Given the description of an element on the screen output the (x, y) to click on. 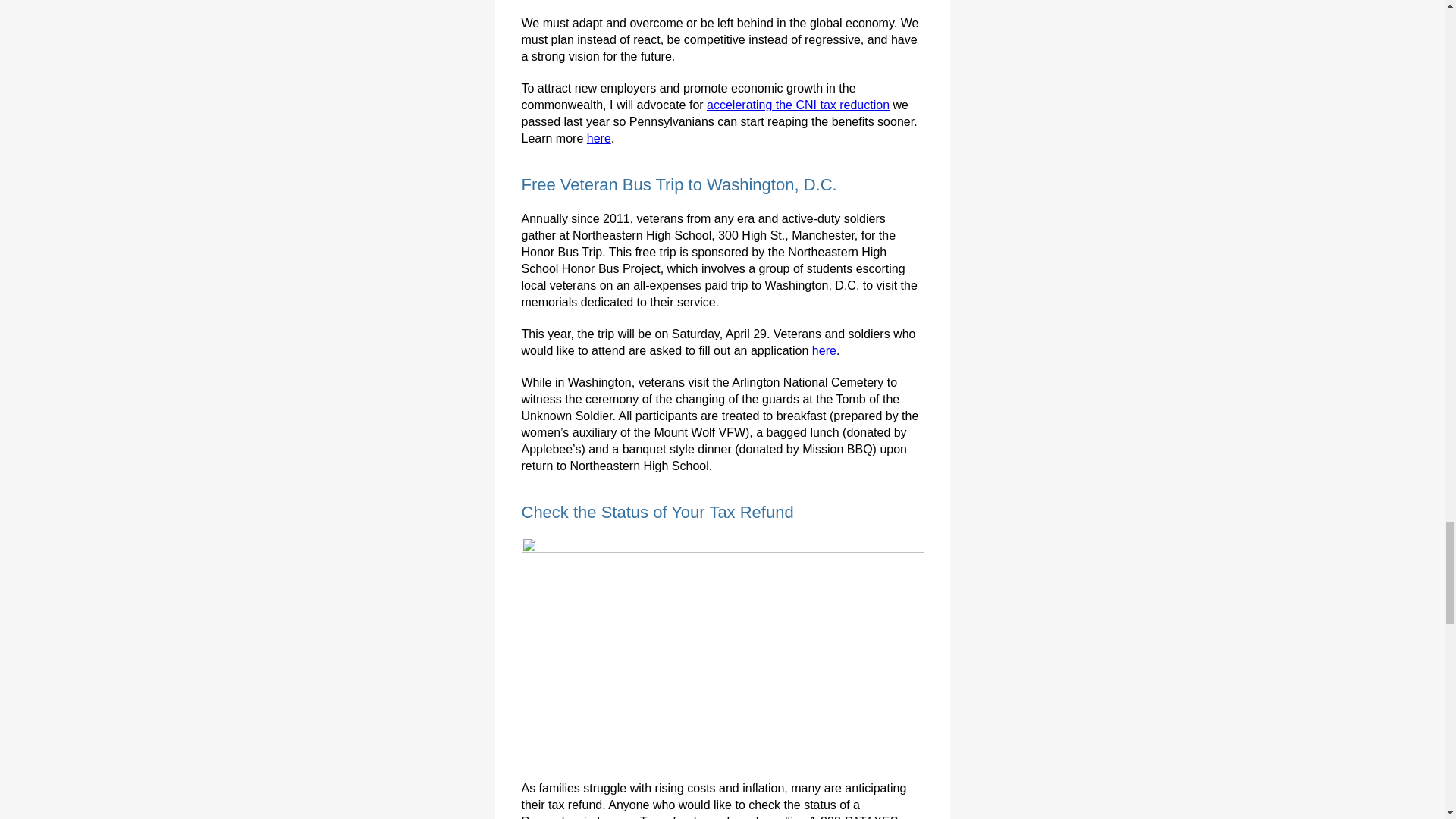
here (598, 137)
here (823, 350)
accelerating the CNI tax reduction (797, 104)
